Given the description of an element on the screen output the (x, y) to click on. 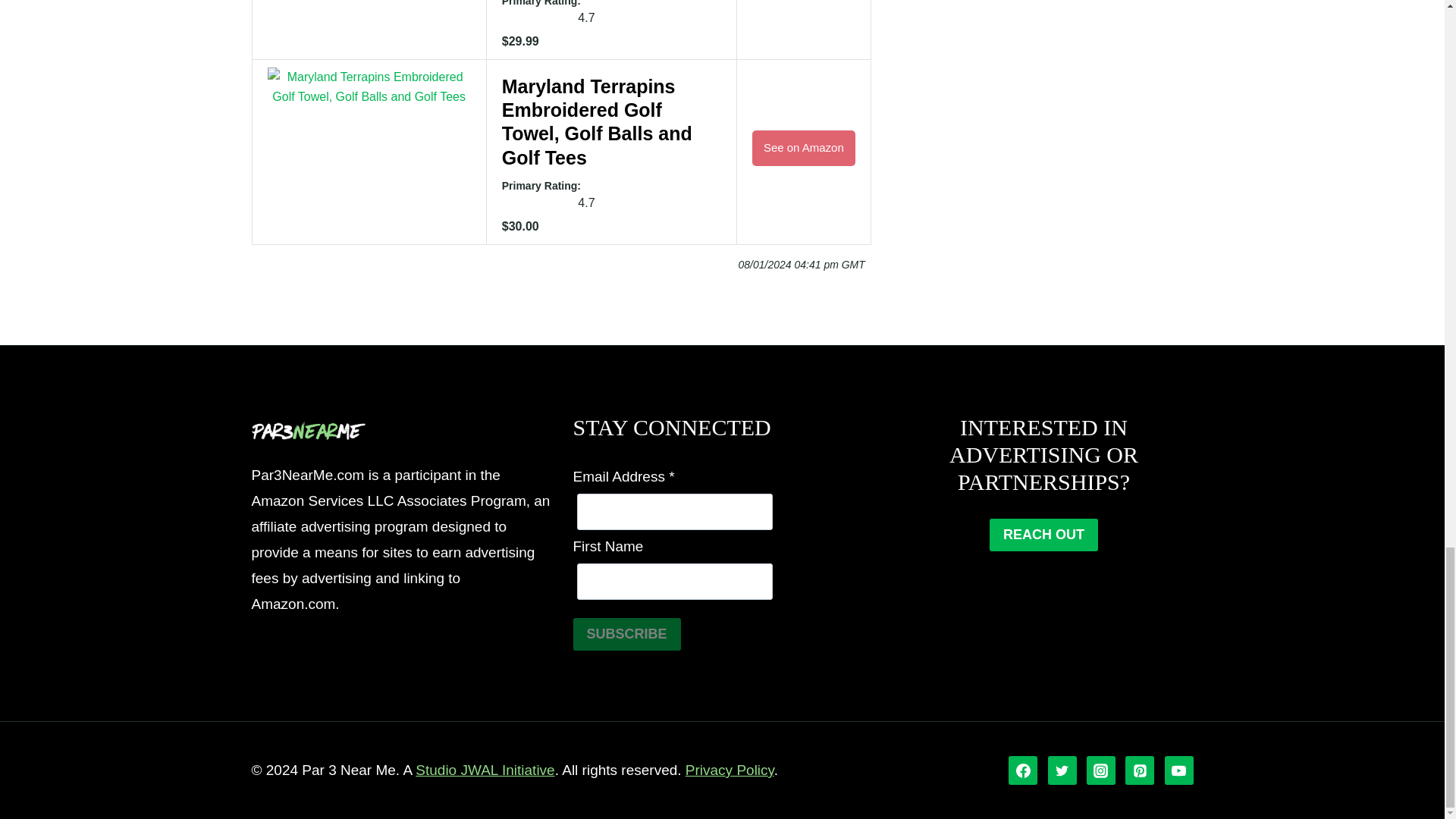
Subscribe (627, 634)
